Given the description of an element on the screen output the (x, y) to click on. 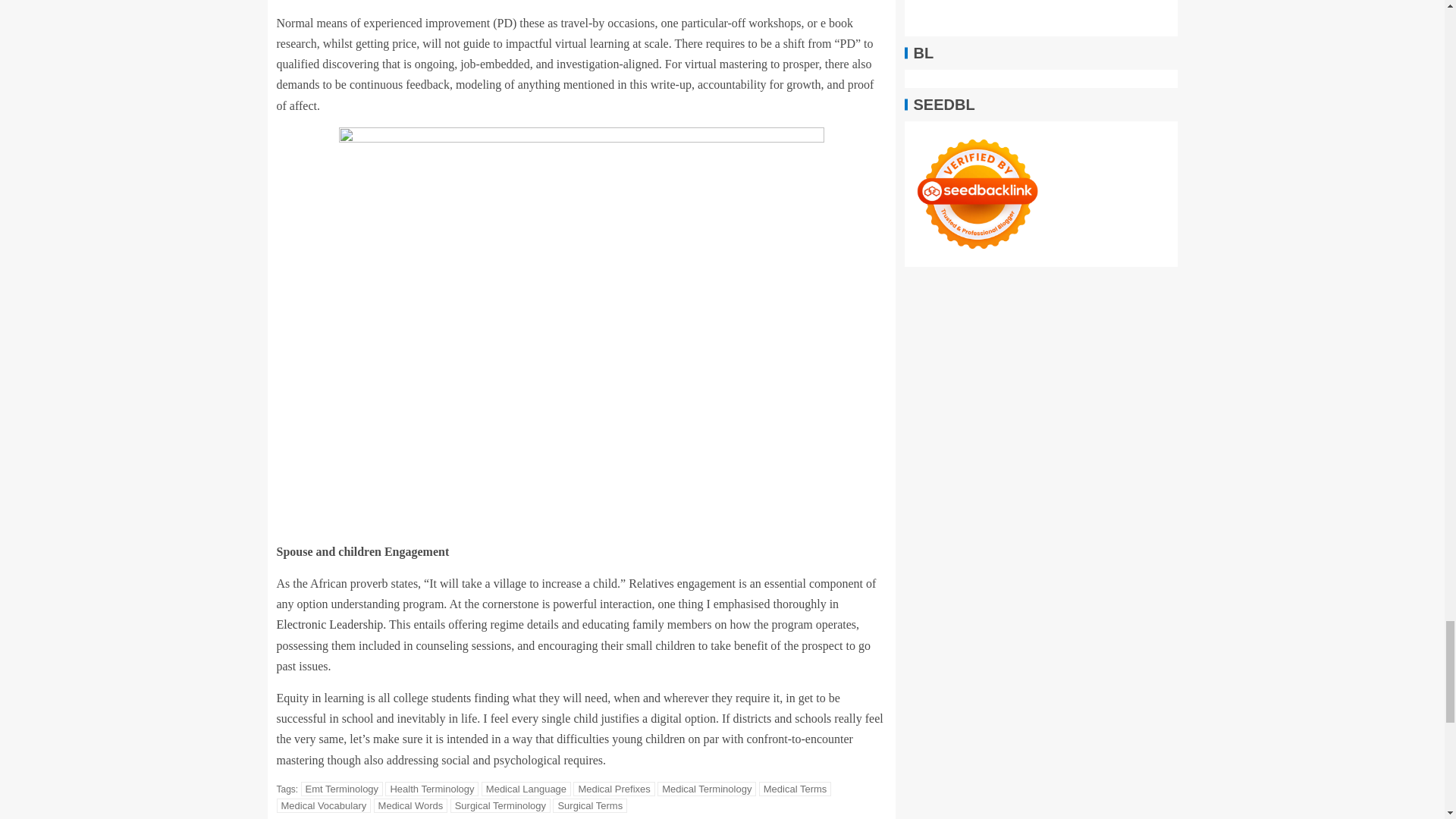
Medical Prefixes (613, 789)
Medical Language (525, 789)
Electronic Leadership (329, 624)
Health Terminology (432, 789)
Medical Terminology (706, 789)
Emt Terminology (342, 789)
